Given the description of an element on the screen output the (x, y) to click on. 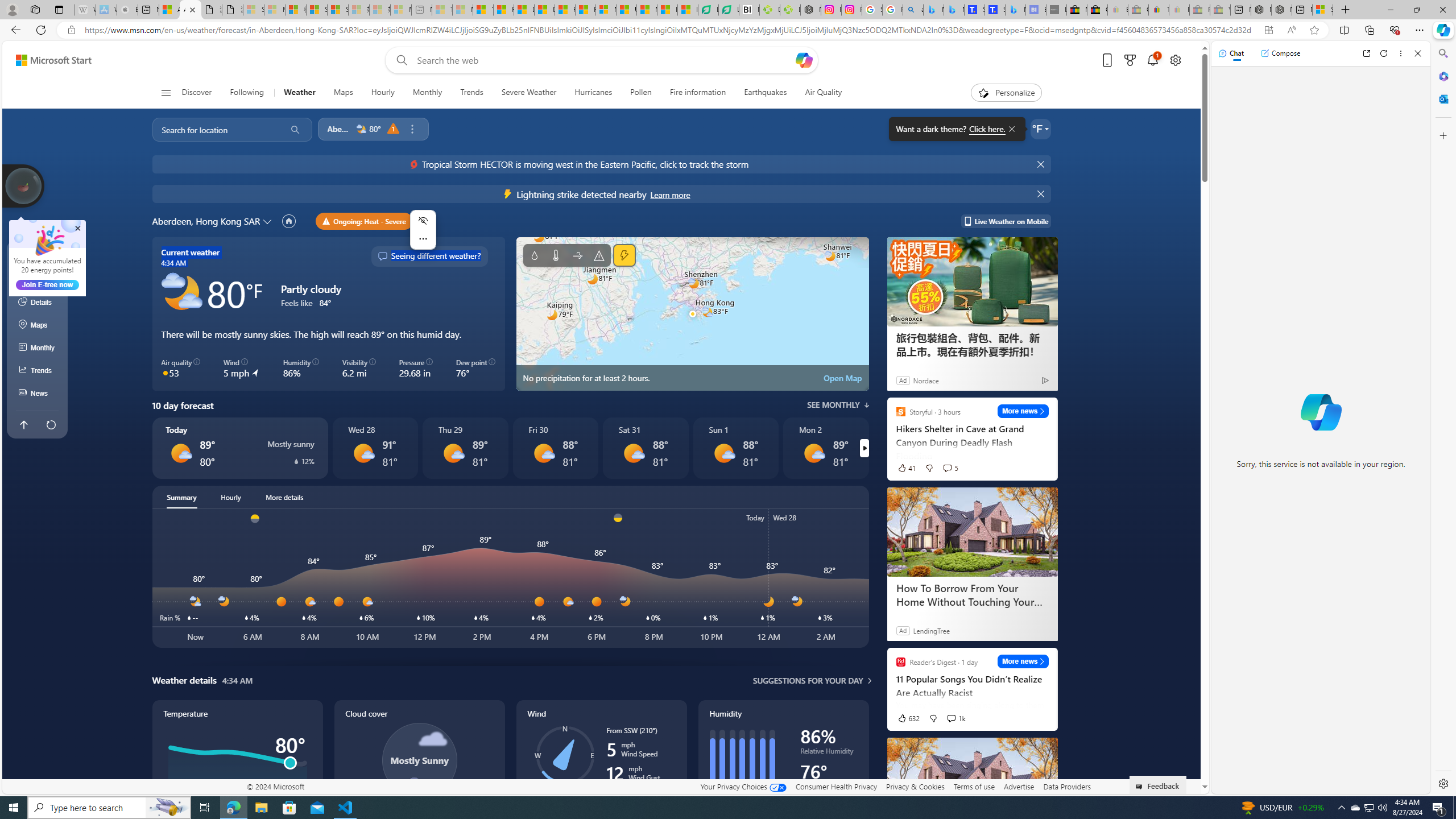
More details (284, 496)
Trends (37, 370)
Class: aqiColorCycle-DS-EntryPoint1-1 (164, 372)
Hide (1041, 194)
Severe Weather (529, 92)
Weather settings (1040, 128)
Mini menu on text selection (423, 236)
Nordace - Nordace Edin Collection (809, 9)
